Given the description of an element on the screen output the (x, y) to click on. 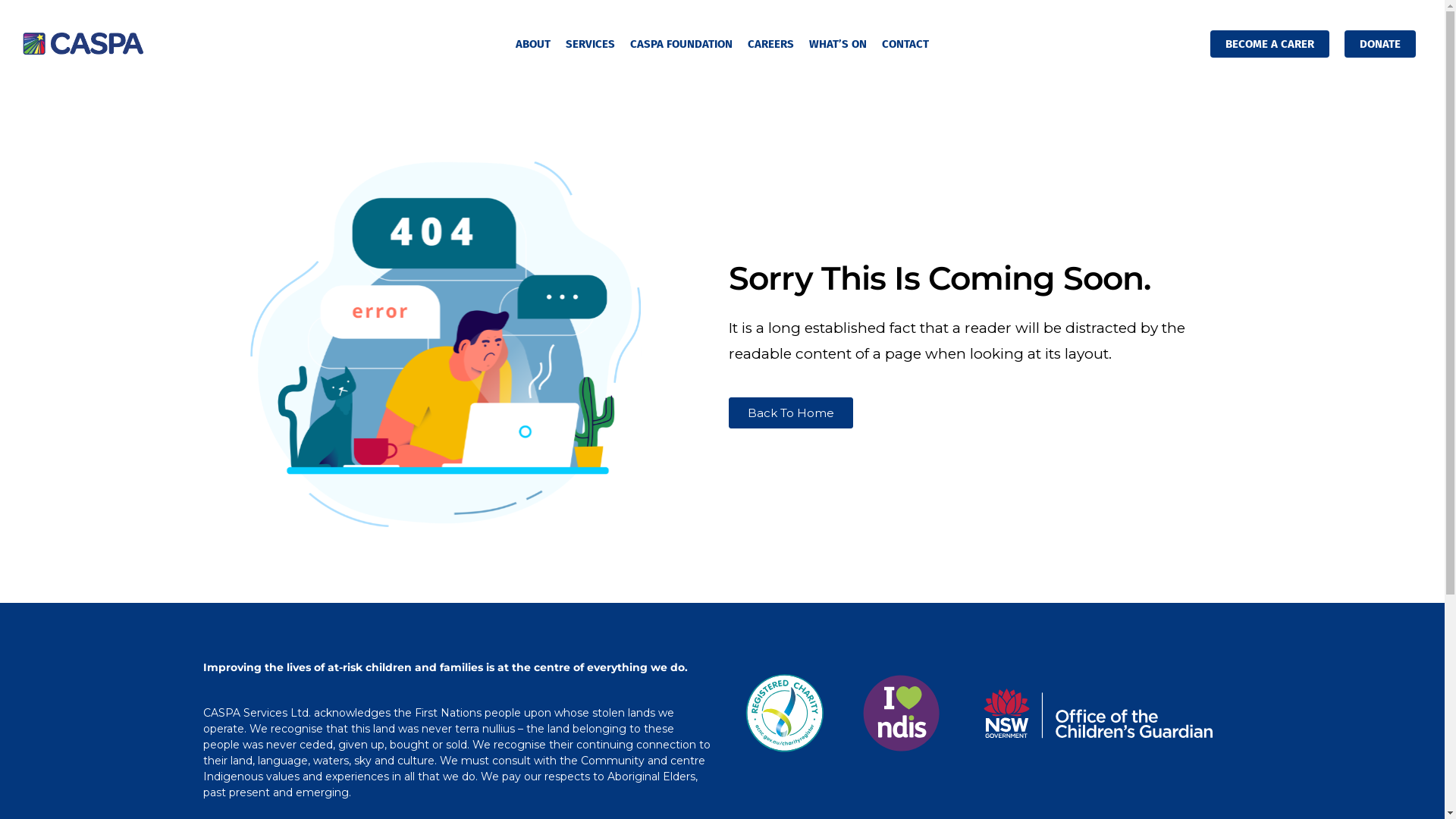
DONATE Element type: text (1379, 43)
Back To Home Element type: text (790, 412)
ABOUT Element type: text (533, 43)
CAREERS Element type: text (770, 43)
SERVICES Element type: text (590, 43)
Partners Element type: hover (986, 712)
CASPA FOUNDATION Element type: text (681, 43)
CONTACT Element type: text (905, 43)
BECOME A CARER Element type: text (1269, 43)
